Given the description of an element on the screen output the (x, y) to click on. 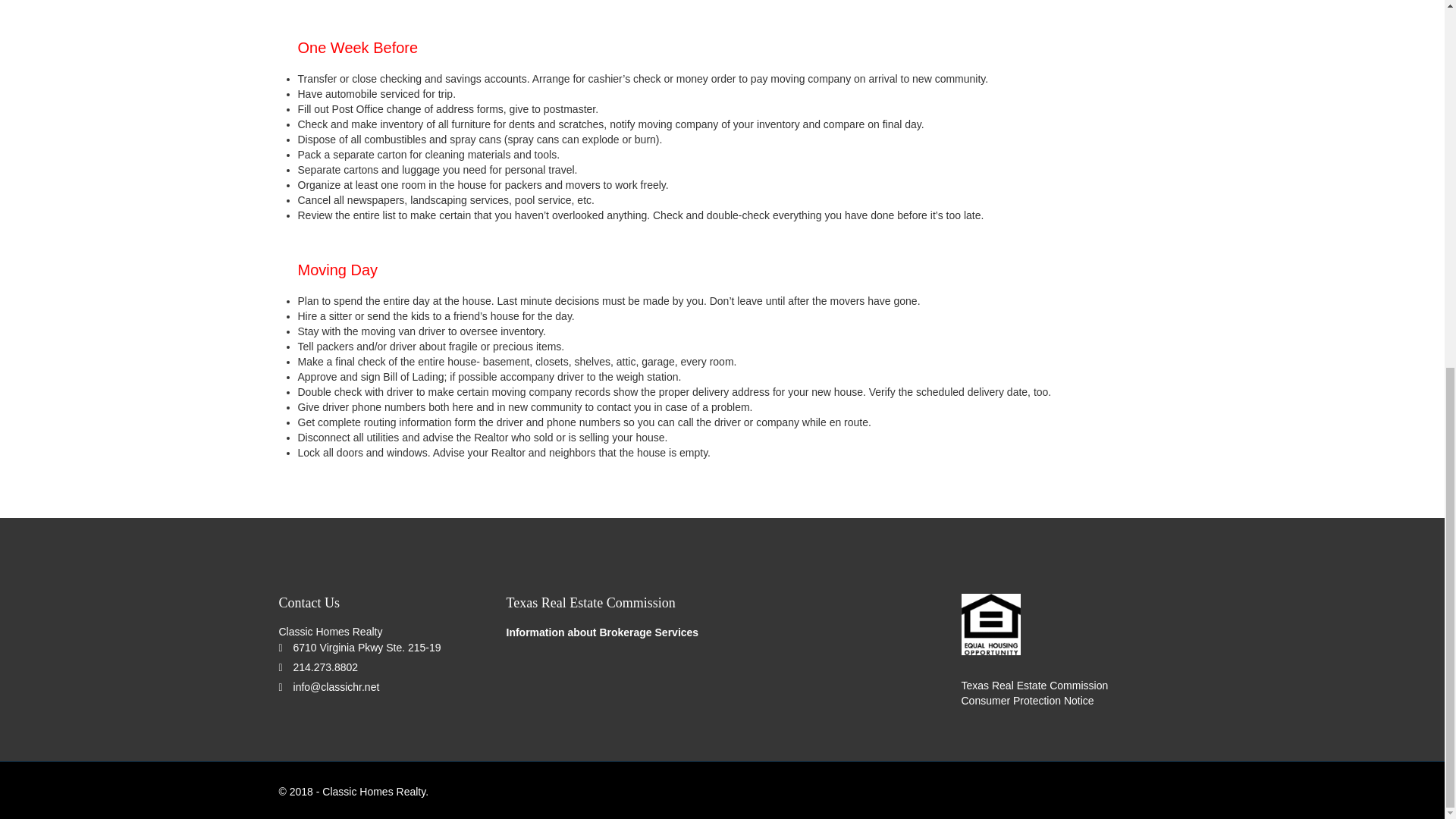
Information about Brokerage Services (602, 632)
Texas Real Estate Commission (1034, 685)
Consumer Protection Notice (1027, 700)
